Given the description of an element on the screen output the (x, y) to click on. 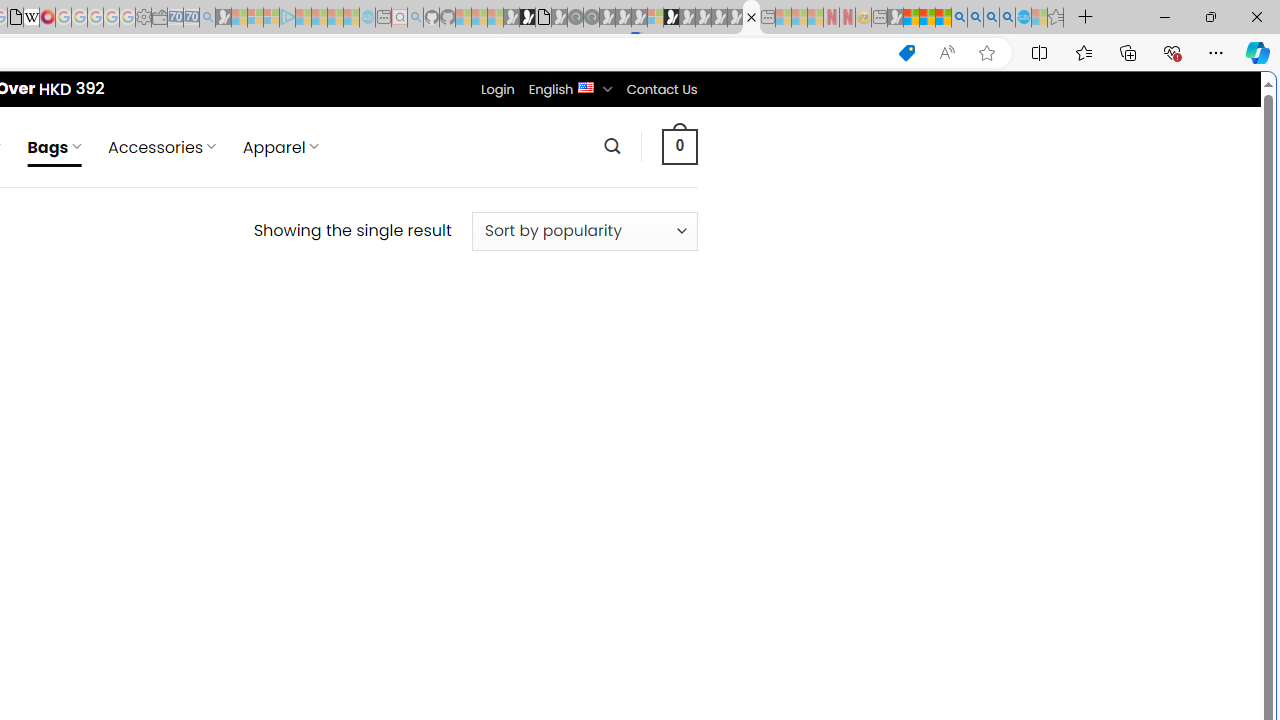
Tabs you've opened (276, 265)
Frequently visited (418, 265)
This site has coupons! Shopping in Microsoft Edge (906, 53)
Bing AI - Search (959, 17)
Target page - Wikipedia (31, 17)
Sign in to your account - Sleeping (655, 17)
